Given the description of an element on the screen output the (x, y) to click on. 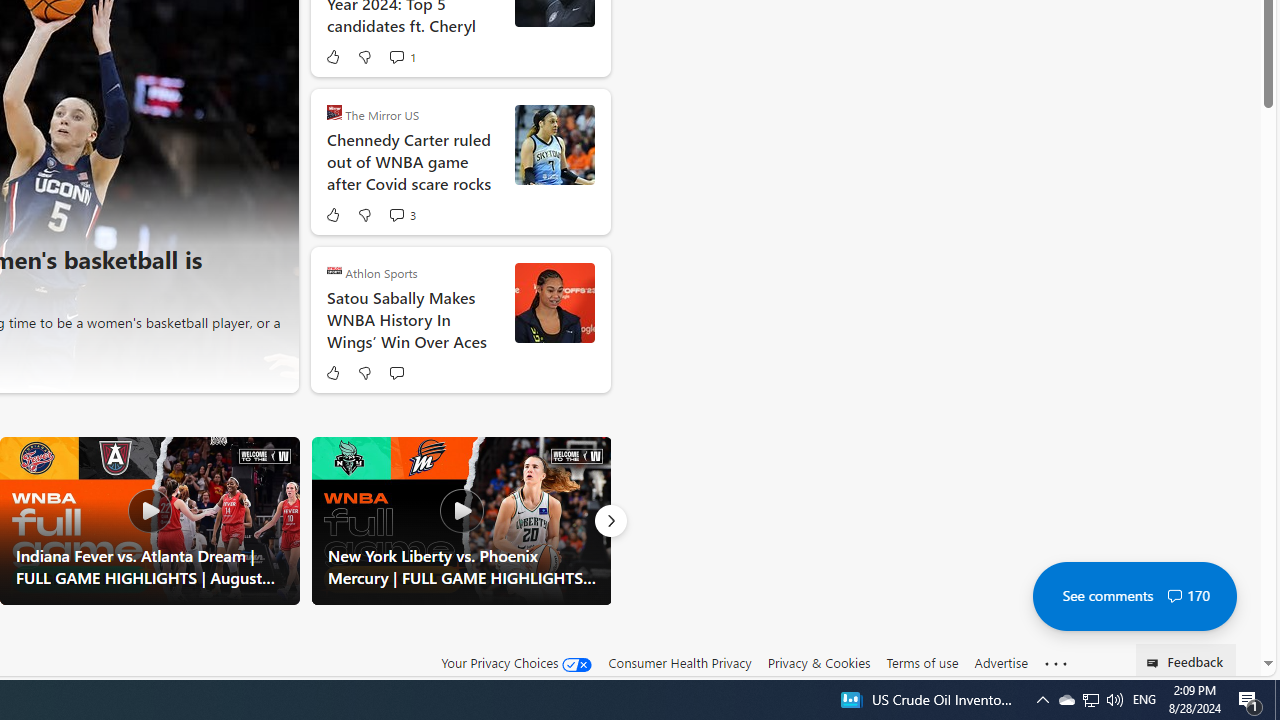
View comments 3 Comment (401, 214)
Dislike (364, 372)
Privacy & Cookies (818, 662)
Consumer Health Privacy (680, 662)
next (271, 161)
The Mirror US (333, 112)
Consumer Health Privacy (680, 663)
Terms of use (921, 663)
View comments 1 Comment (395, 56)
